Given the description of an element on the screen output the (x, y) to click on. 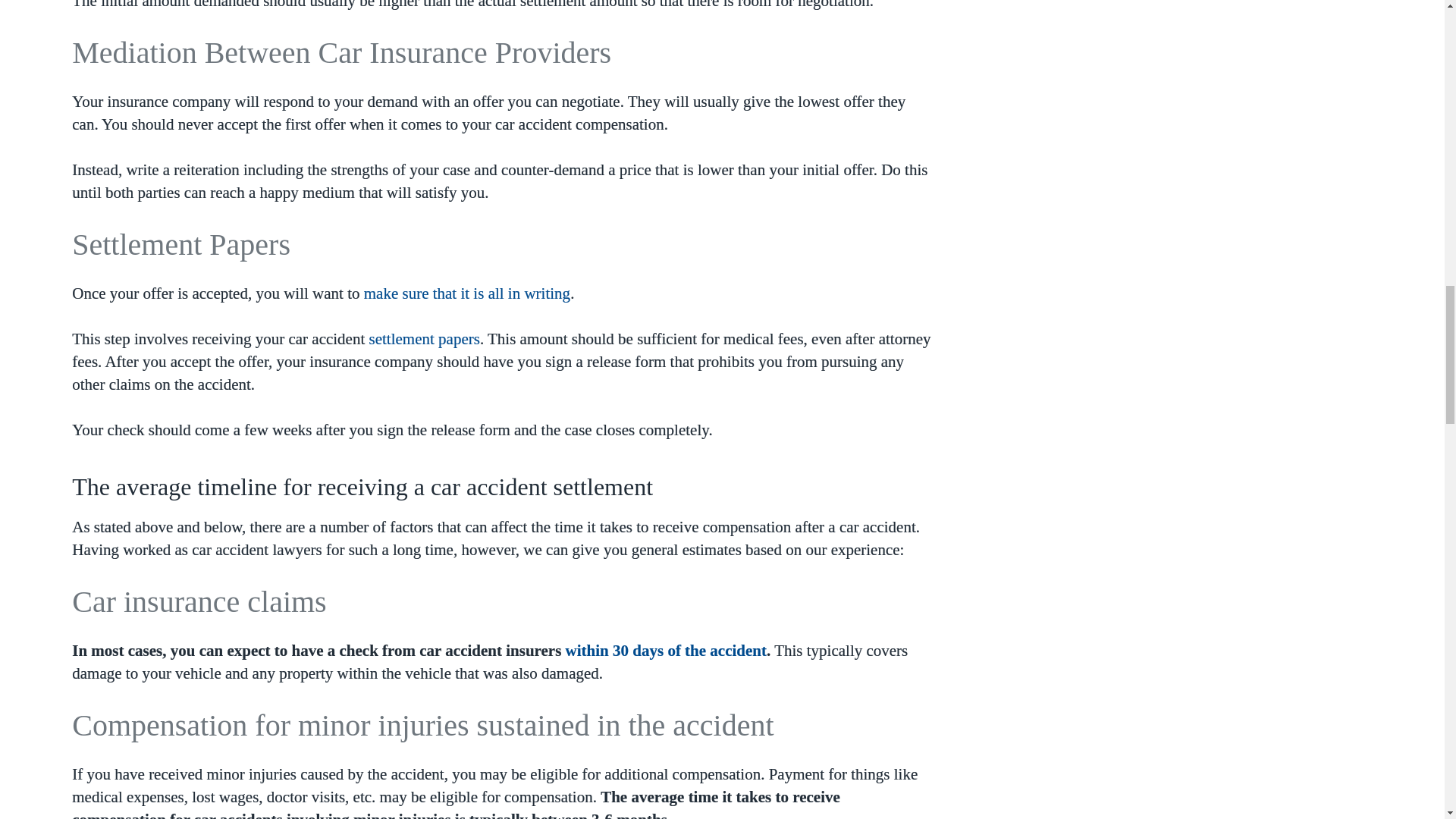
make sure that it is all in writing (467, 293)
within 30 days of the accident (666, 650)
settlement papers (424, 339)
